Given the description of an element on the screen output the (x, y) to click on. 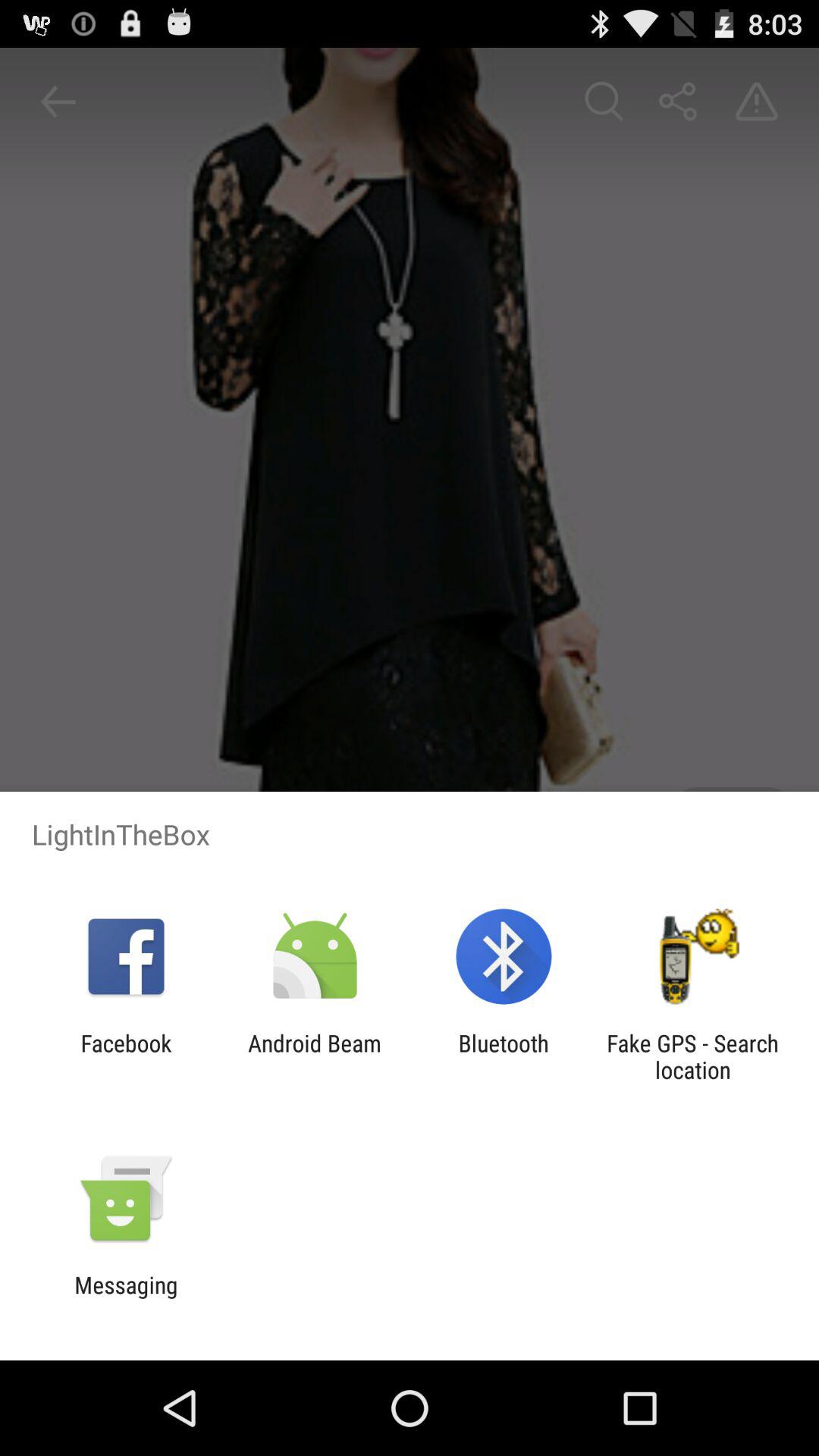
tap item next to android beam icon (125, 1056)
